Given the description of an element on the screen output the (x, y) to click on. 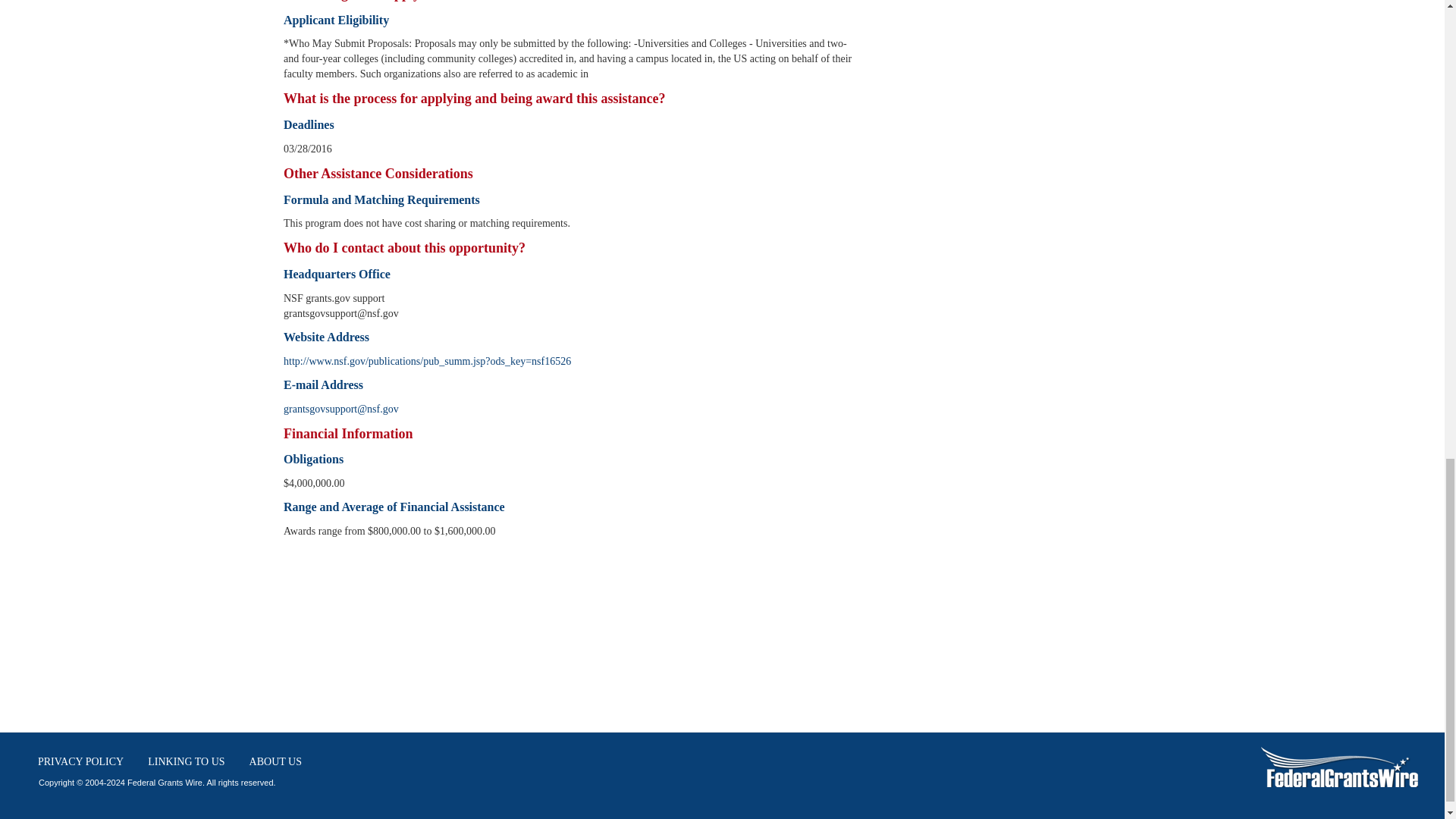
LINKING TO US (185, 761)
ABOUT US (275, 761)
PRIVACY POLICY (80, 761)
